Given the description of an element on the screen output the (x, y) to click on. 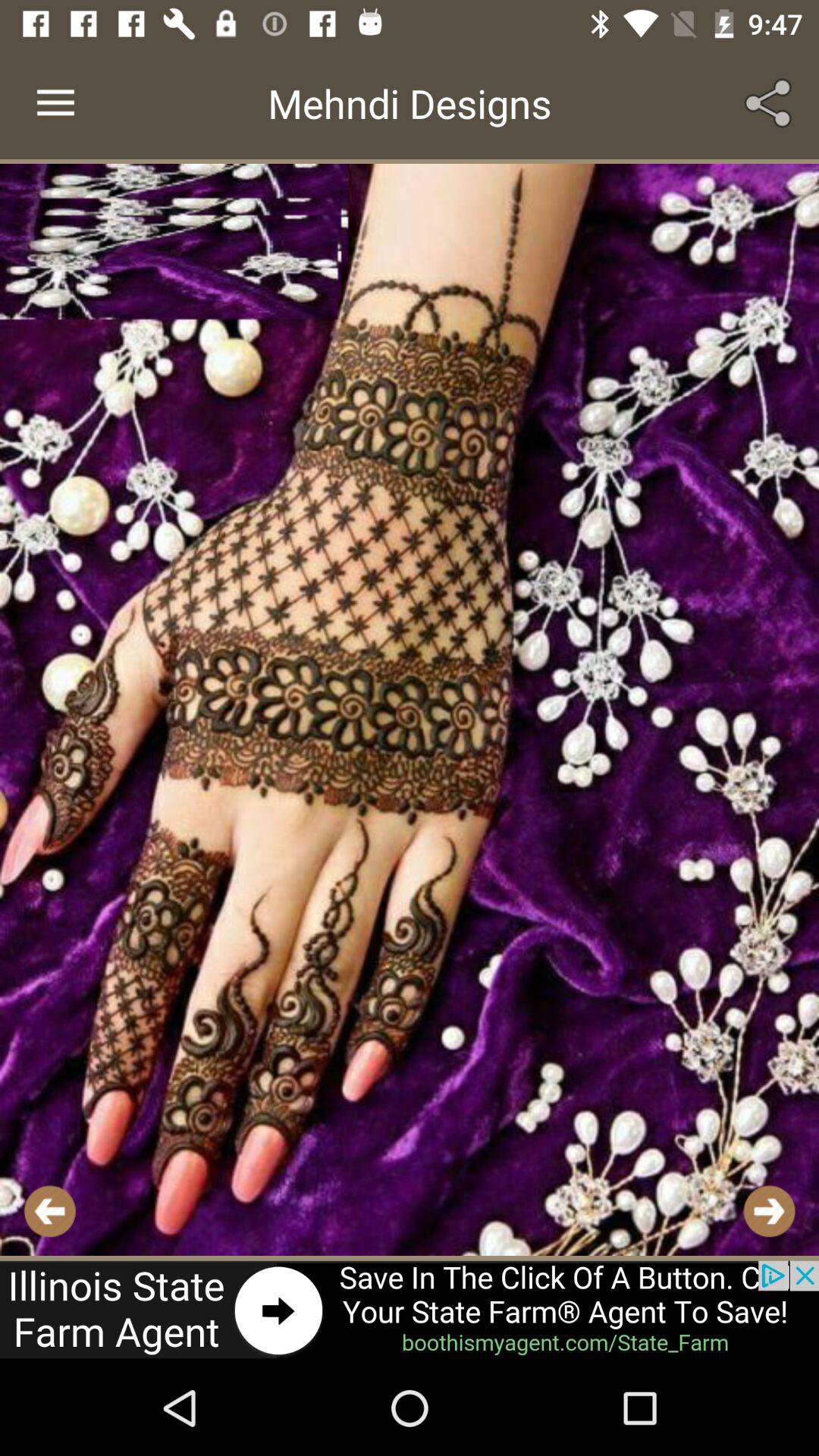
go back (49, 1210)
